Given the description of an element on the screen output the (x, y) to click on. 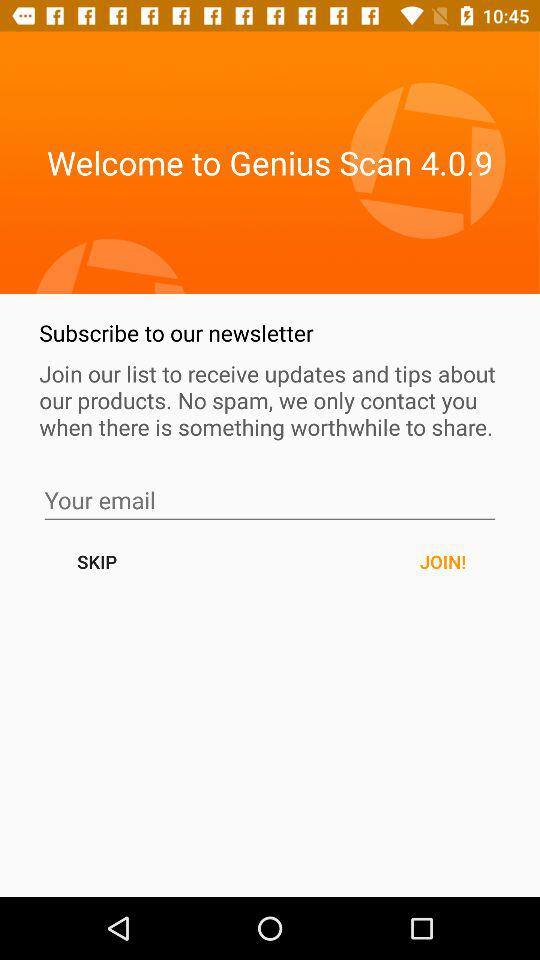
tap the button on the right (442, 561)
